Given the description of an element on the screen output the (x, y) to click on. 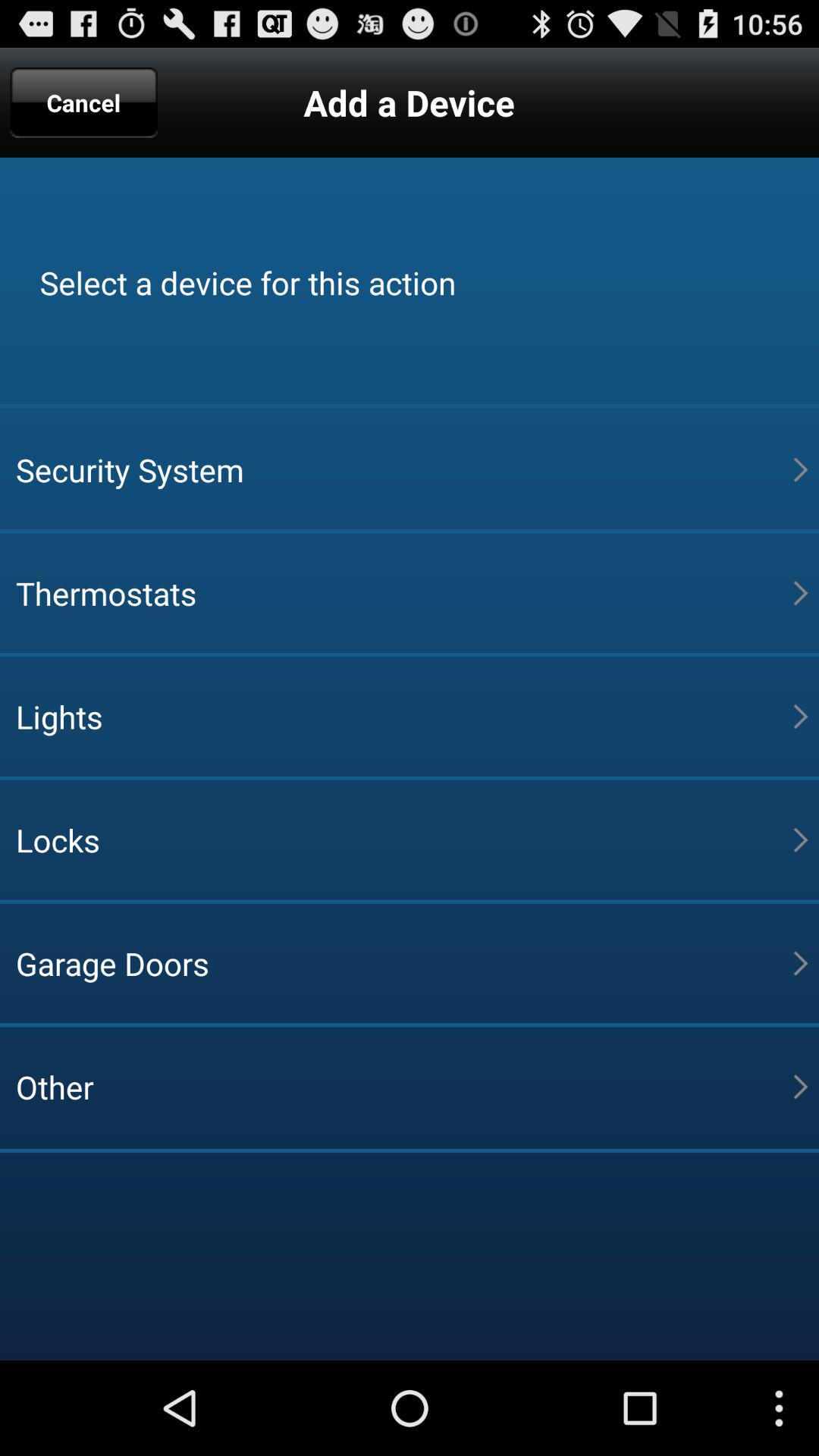
turn on the item below thermostats app (403, 716)
